Given the description of an element on the screen output the (x, y) to click on. 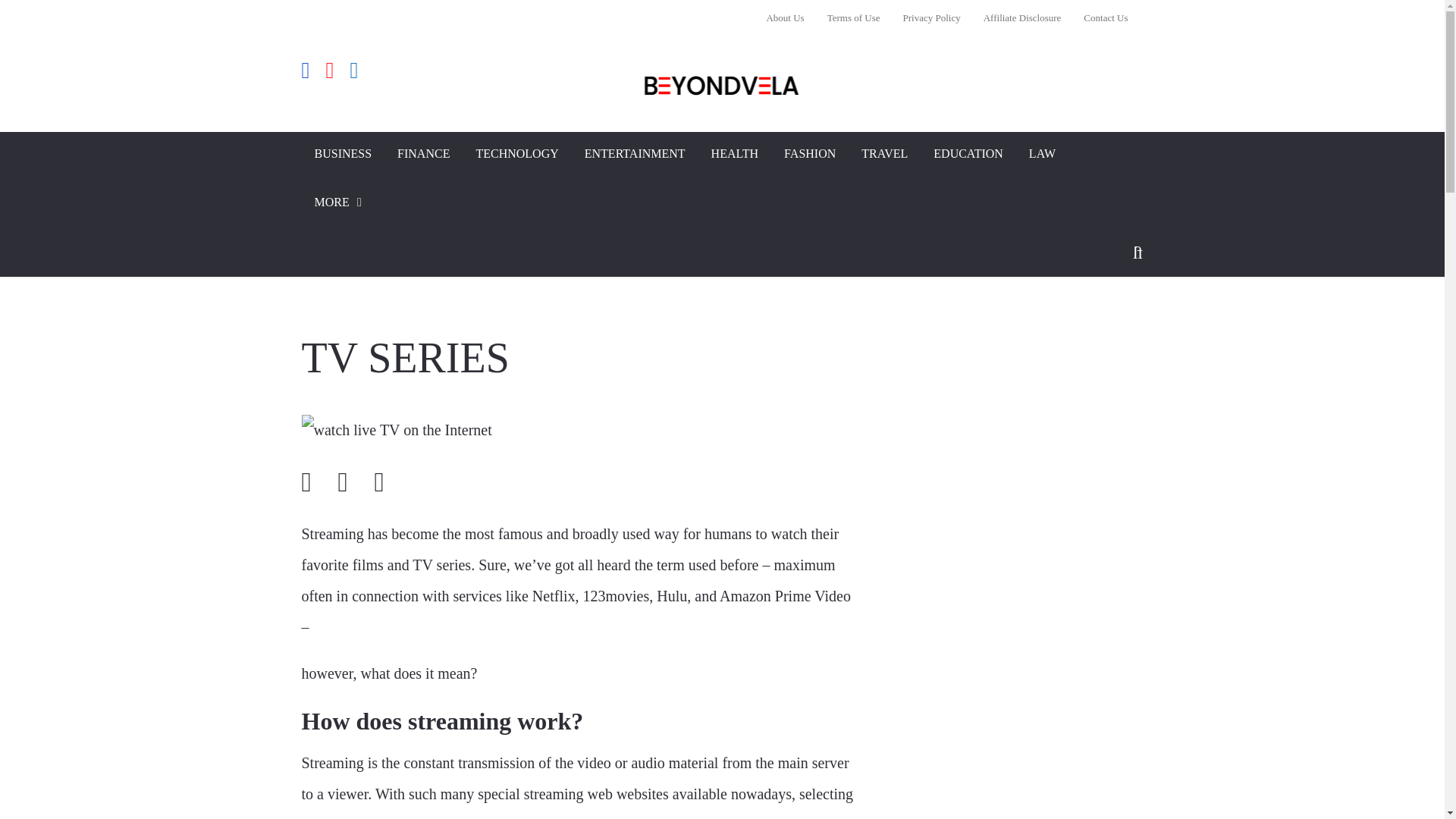
FASHION (809, 155)
HEALTH (734, 155)
BUSINESS (343, 155)
LAW (1042, 155)
FINANCE (423, 155)
Contact Us (1098, 17)
Privacy Policy (931, 17)
Terms of Use (853, 17)
Affiliate Disclosure (1022, 17)
About Us (790, 17)
TRAVEL (884, 155)
TECHNOLOGY (516, 155)
ENTERTAINMENT (635, 155)
EDUCATION (968, 155)
MORE (339, 204)
